Given the description of an element on the screen output the (x, y) to click on. 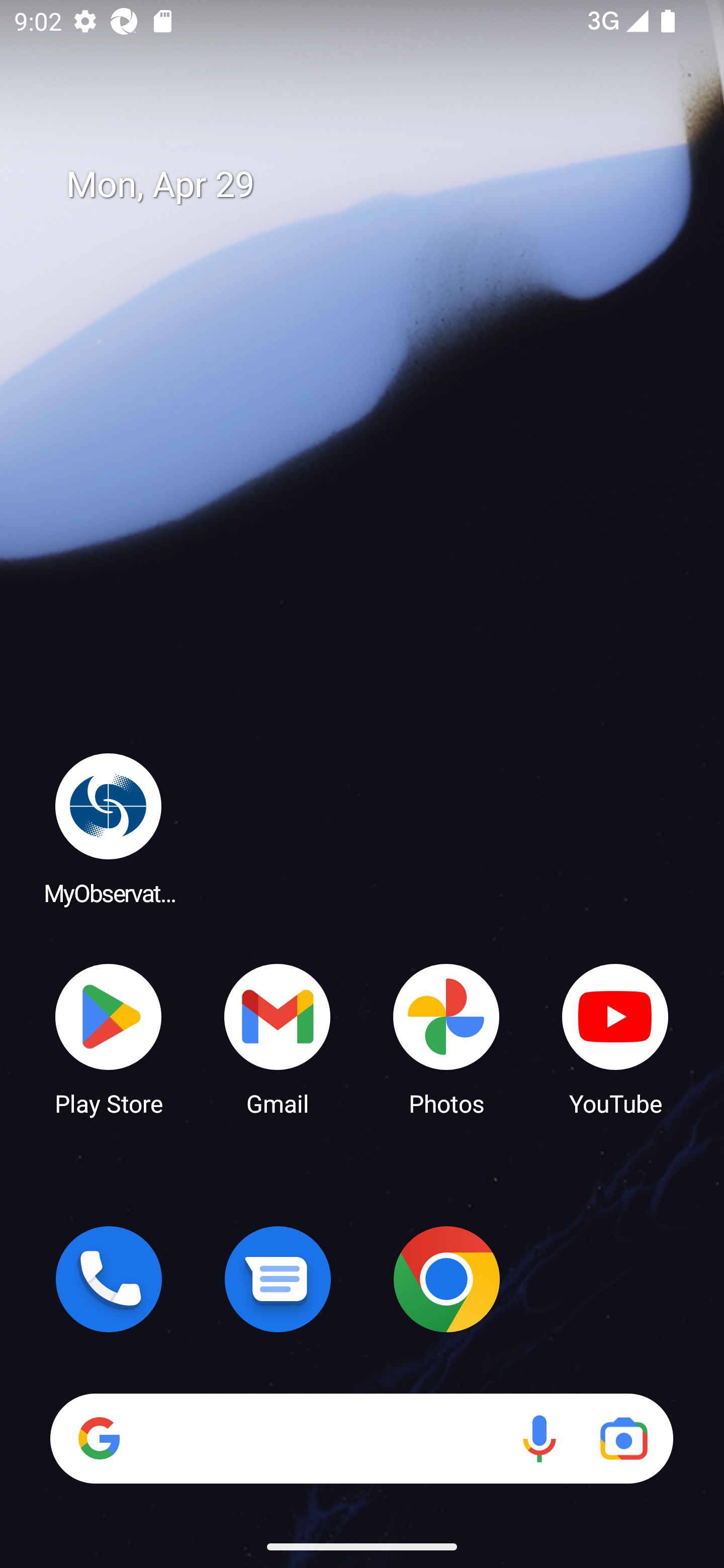
Mon, Apr 29 (375, 184)
MyObservatory (108, 828)
Play Store (108, 1038)
Gmail (277, 1038)
Photos (445, 1038)
YouTube (615, 1038)
Phone (108, 1279)
Messages (277, 1279)
Chrome (446, 1279)
Voice search (539, 1438)
Google Lens (623, 1438)
